Given the description of an element on the screen output the (x, y) to click on. 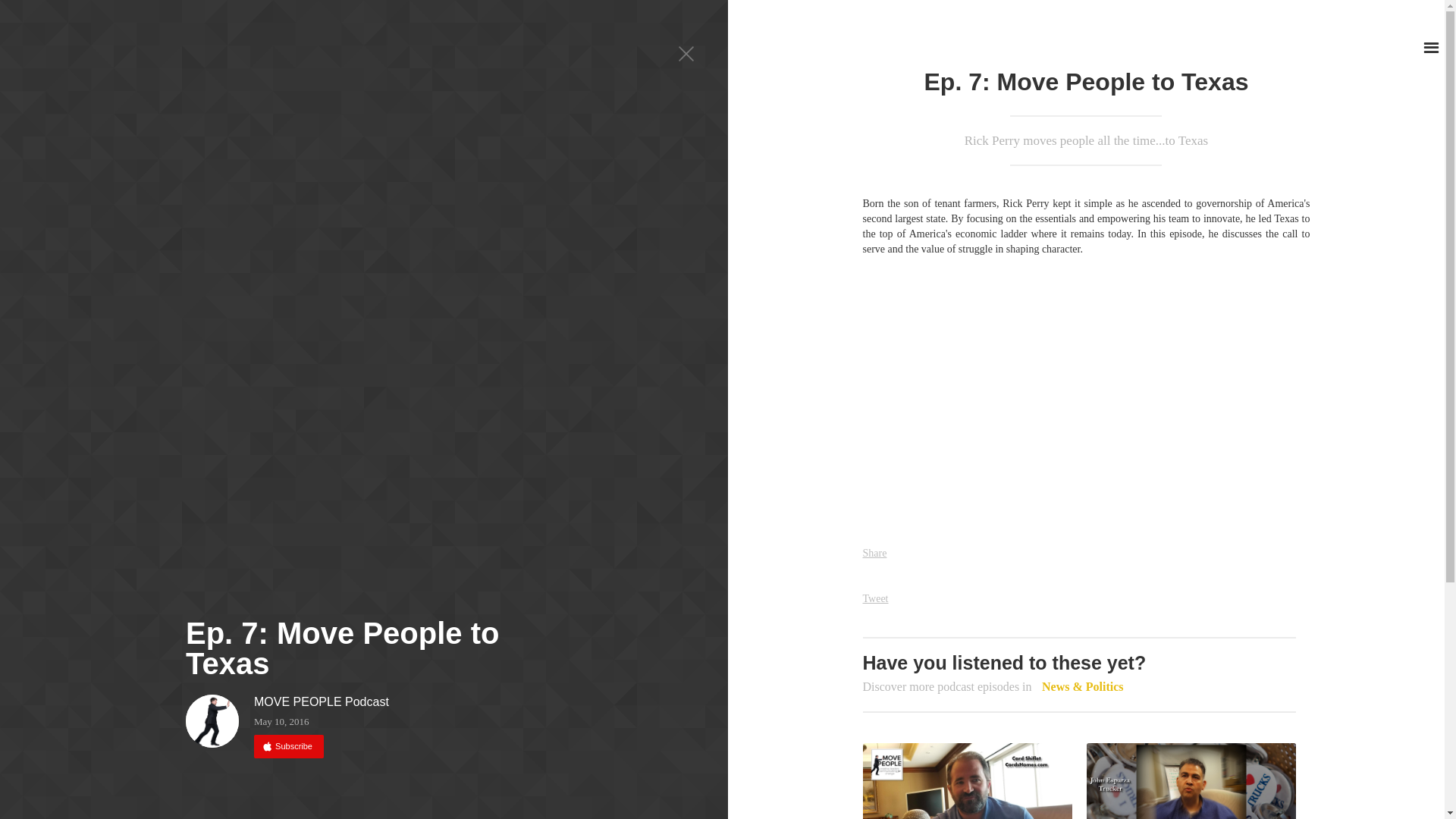
Tweet (875, 598)
 Subscribe (288, 746)
Share (874, 552)
